Given the description of an element on the screen output the (x, y) to click on. 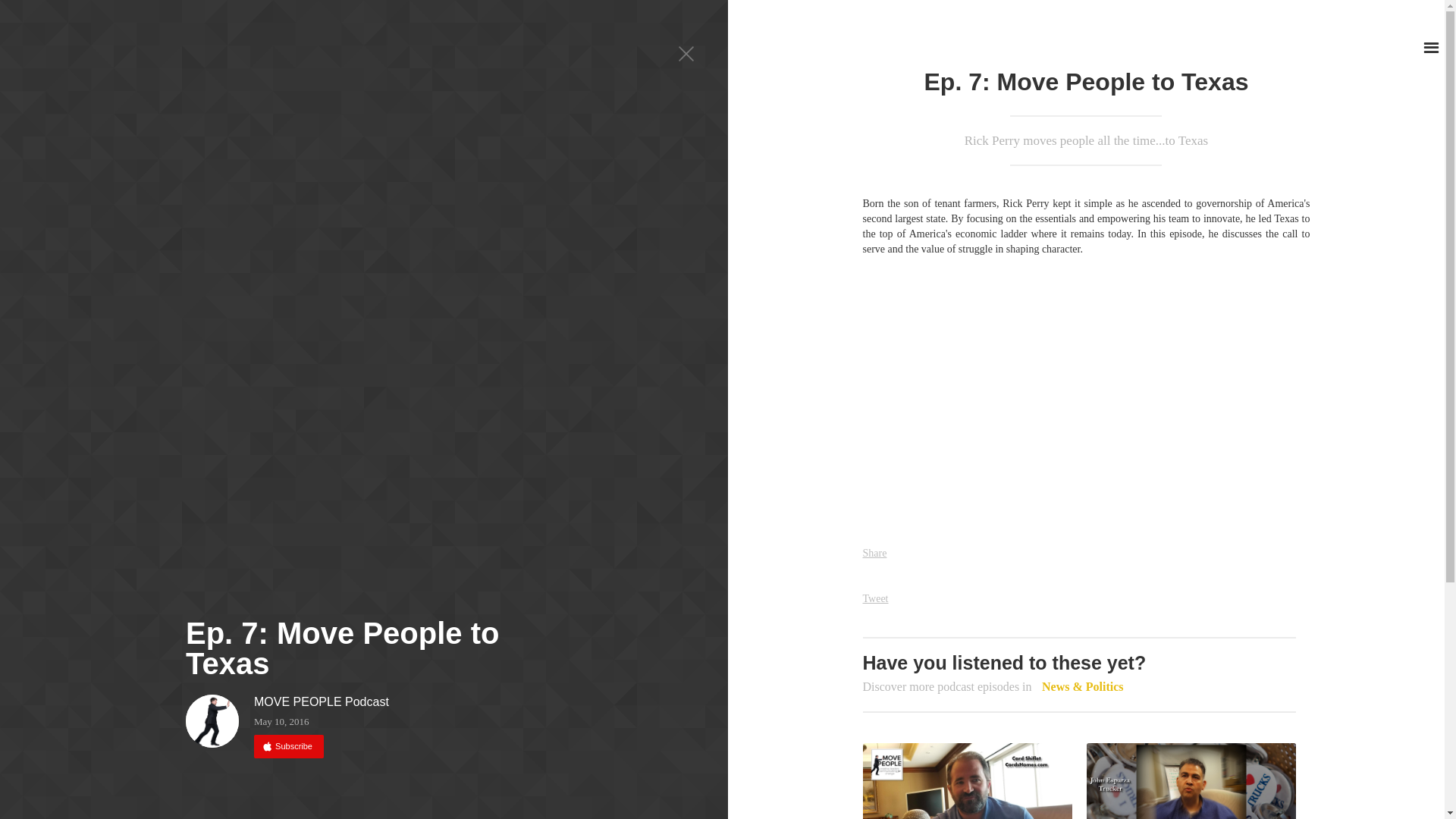
Tweet (875, 598)
 Subscribe (288, 746)
Share (874, 552)
